Given the description of an element on the screen output the (x, y) to click on. 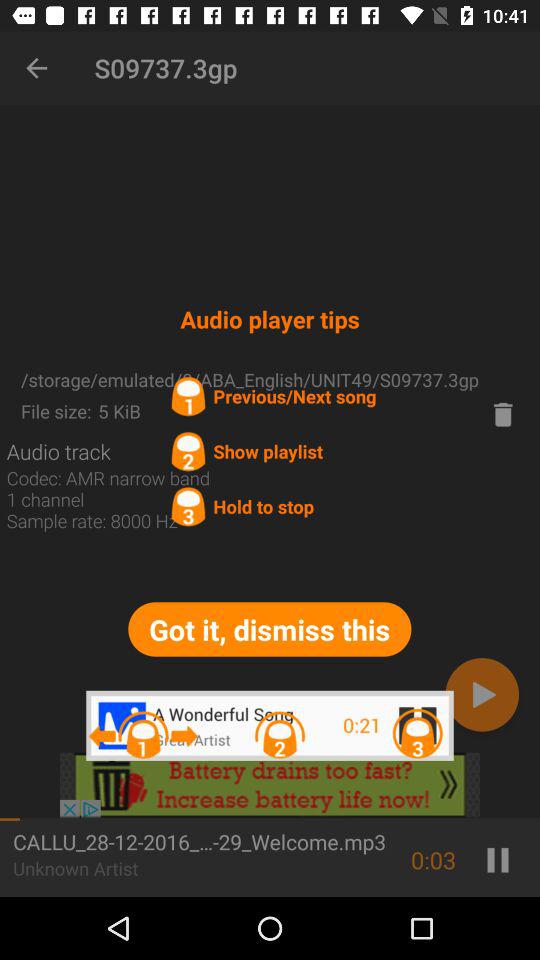
turn on the item below file size: (58, 451)
